Given the description of an element on the screen output the (x, y) to click on. 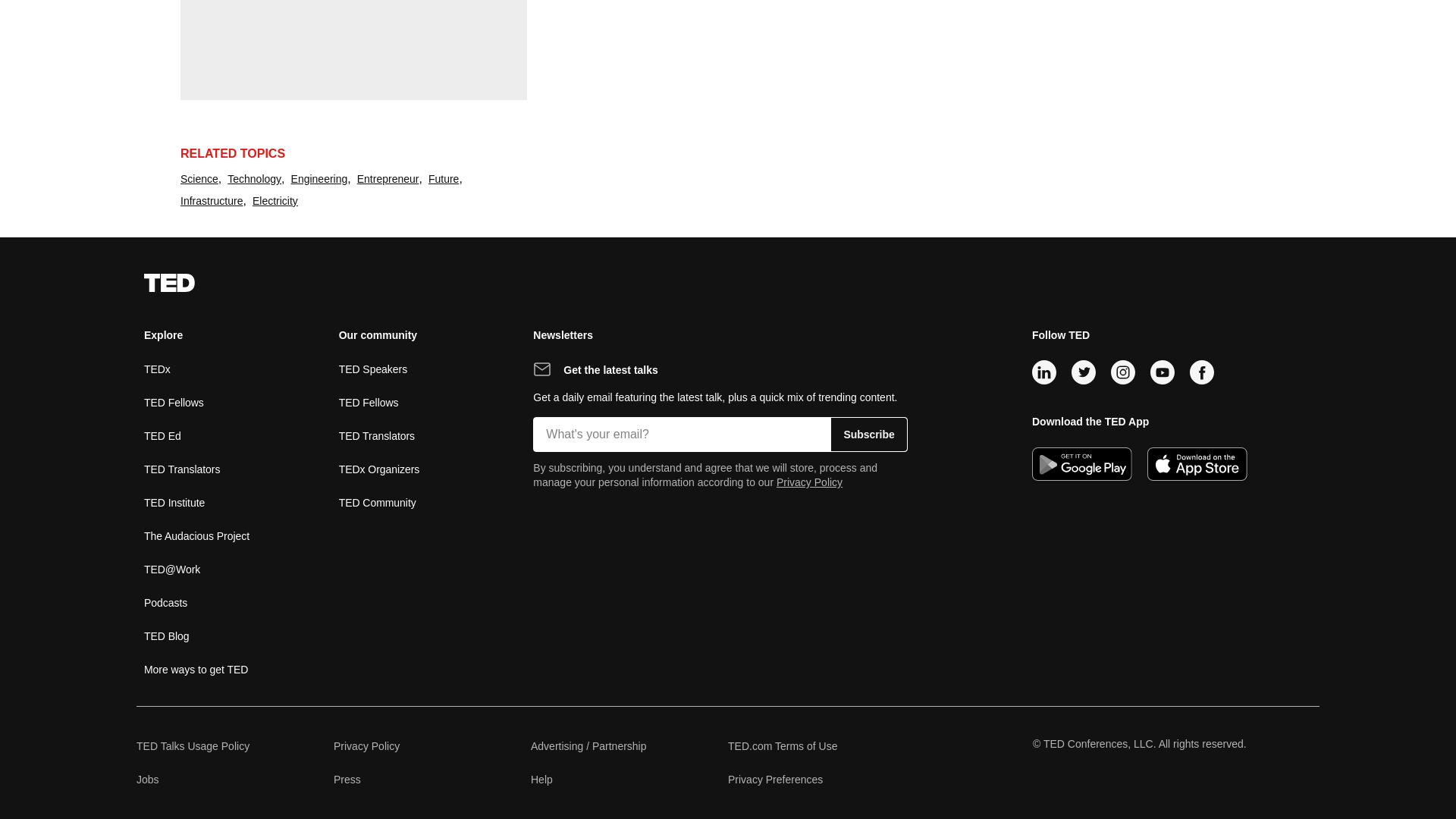
Engineering (319, 179)
TEDx (157, 368)
TED Translators (181, 468)
TED Institute (174, 502)
Infrastructure (211, 201)
Entrepreneur (387, 179)
Future (443, 179)
The Audacious Project (196, 535)
Technology (254, 179)
Science (199, 179)
Electricity (274, 201)
TED Fellows (173, 401)
TED Ed (162, 435)
